Given the description of an element on the screen output the (x, y) to click on. 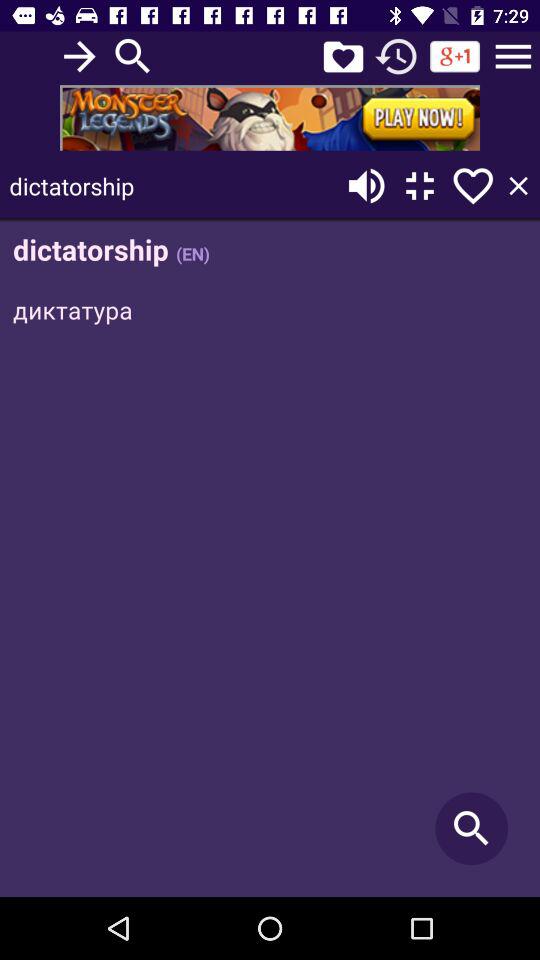
favourite (343, 56)
